Given the description of an element on the screen output the (x, y) to click on. 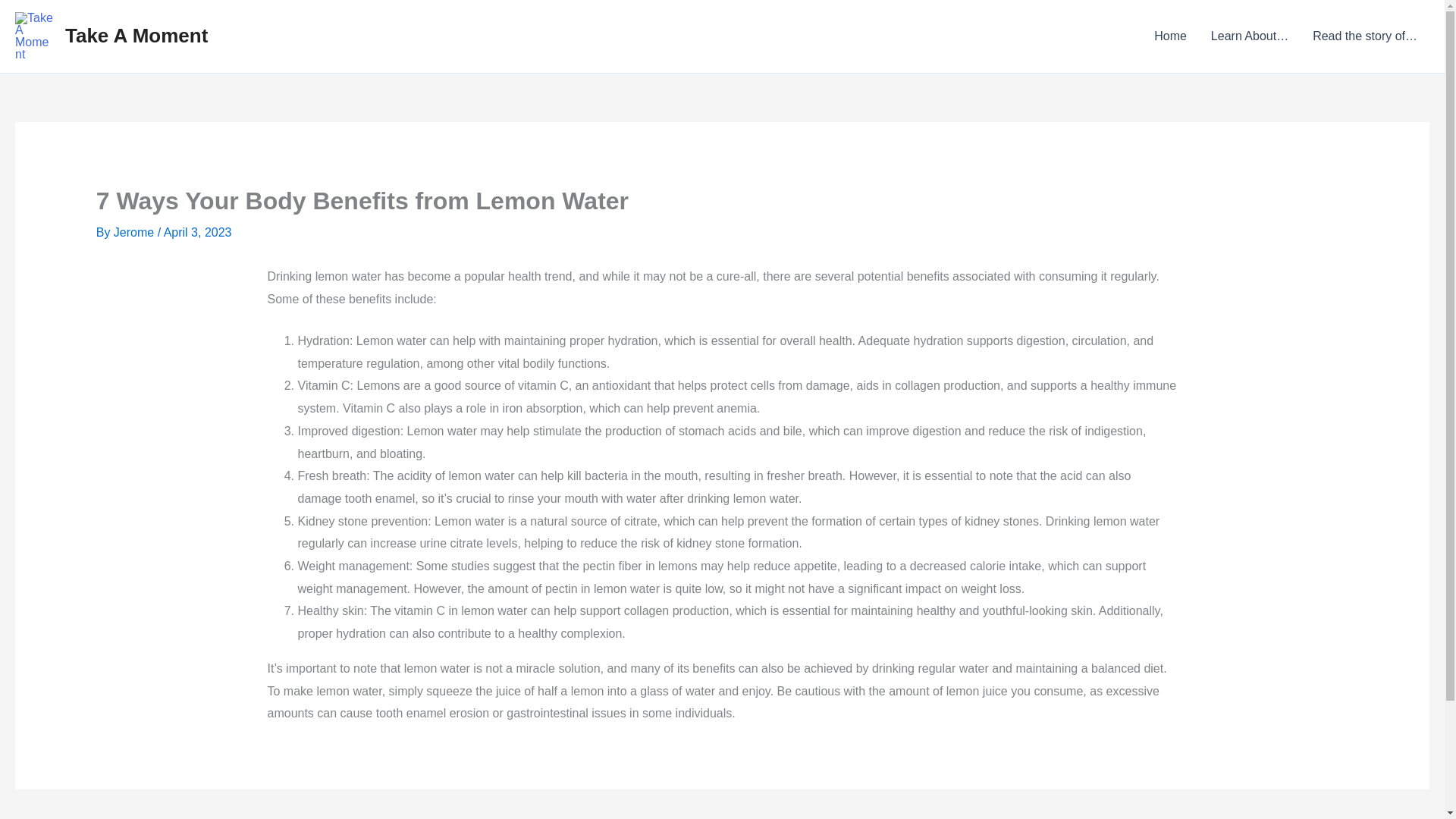
Home (1169, 35)
Jerome (135, 232)
View all posts by Jerome (135, 232)
Take A Moment (136, 35)
